Given the description of an element on the screen output the (x, y) to click on. 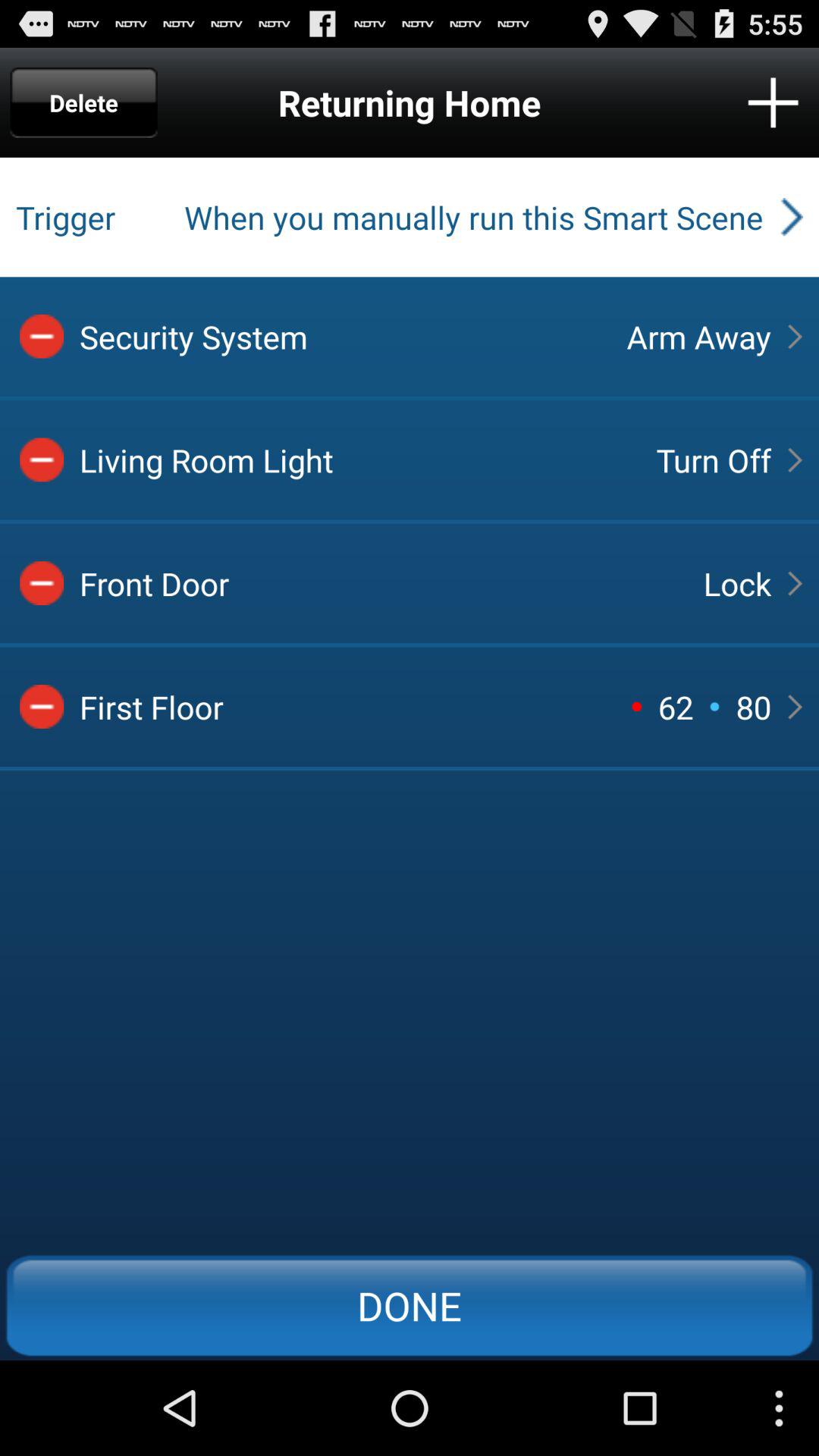
stay connected (773, 102)
